Given the description of an element on the screen output the (x, y) to click on. 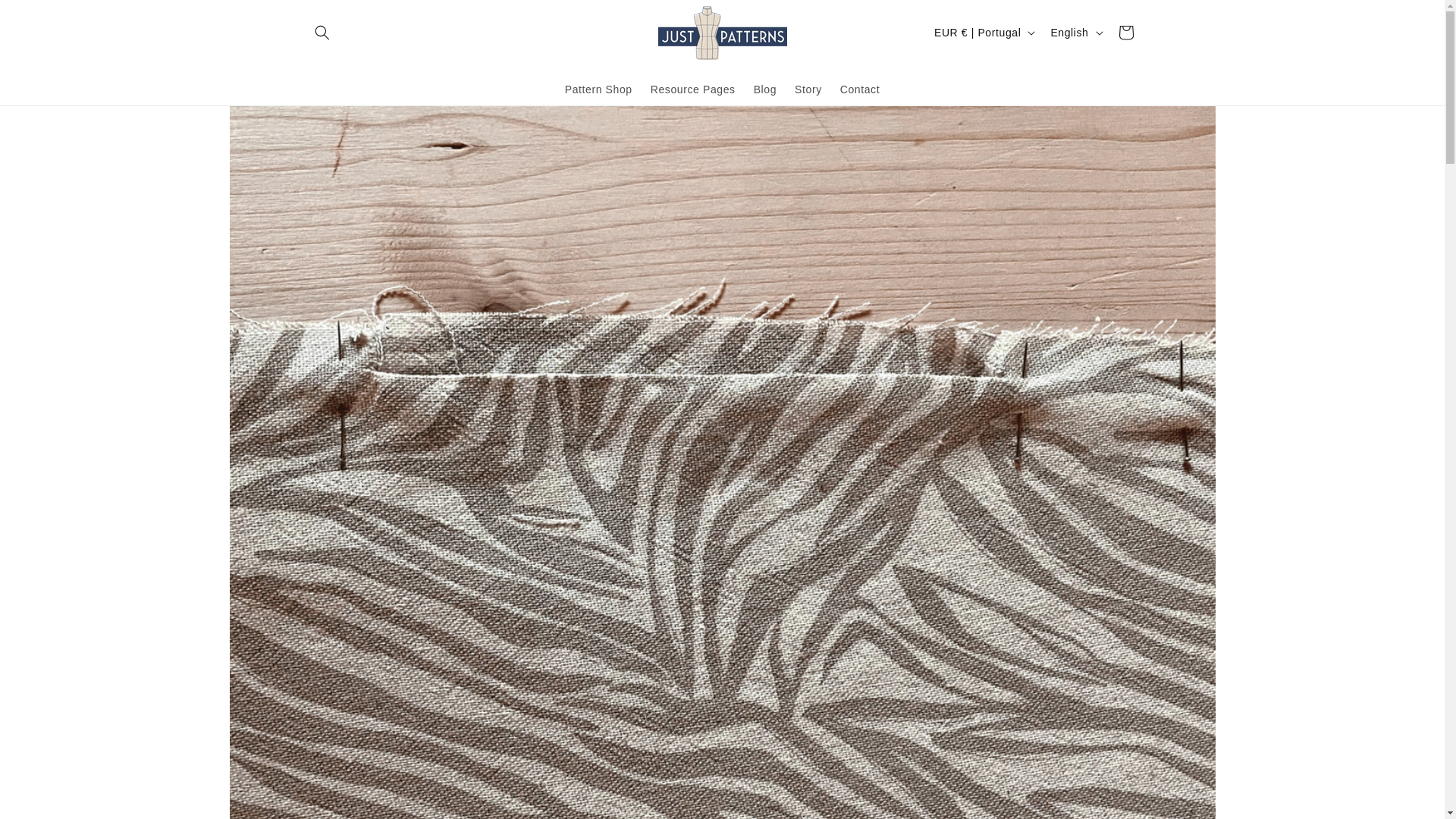
Blog (765, 88)
English (1074, 32)
Resource Pages (693, 88)
Contact (859, 88)
Pattern Shop (599, 88)
Story (808, 88)
Cart (1124, 32)
Skip to content (45, 17)
